Given the description of an element on the screen output the (x, y) to click on. 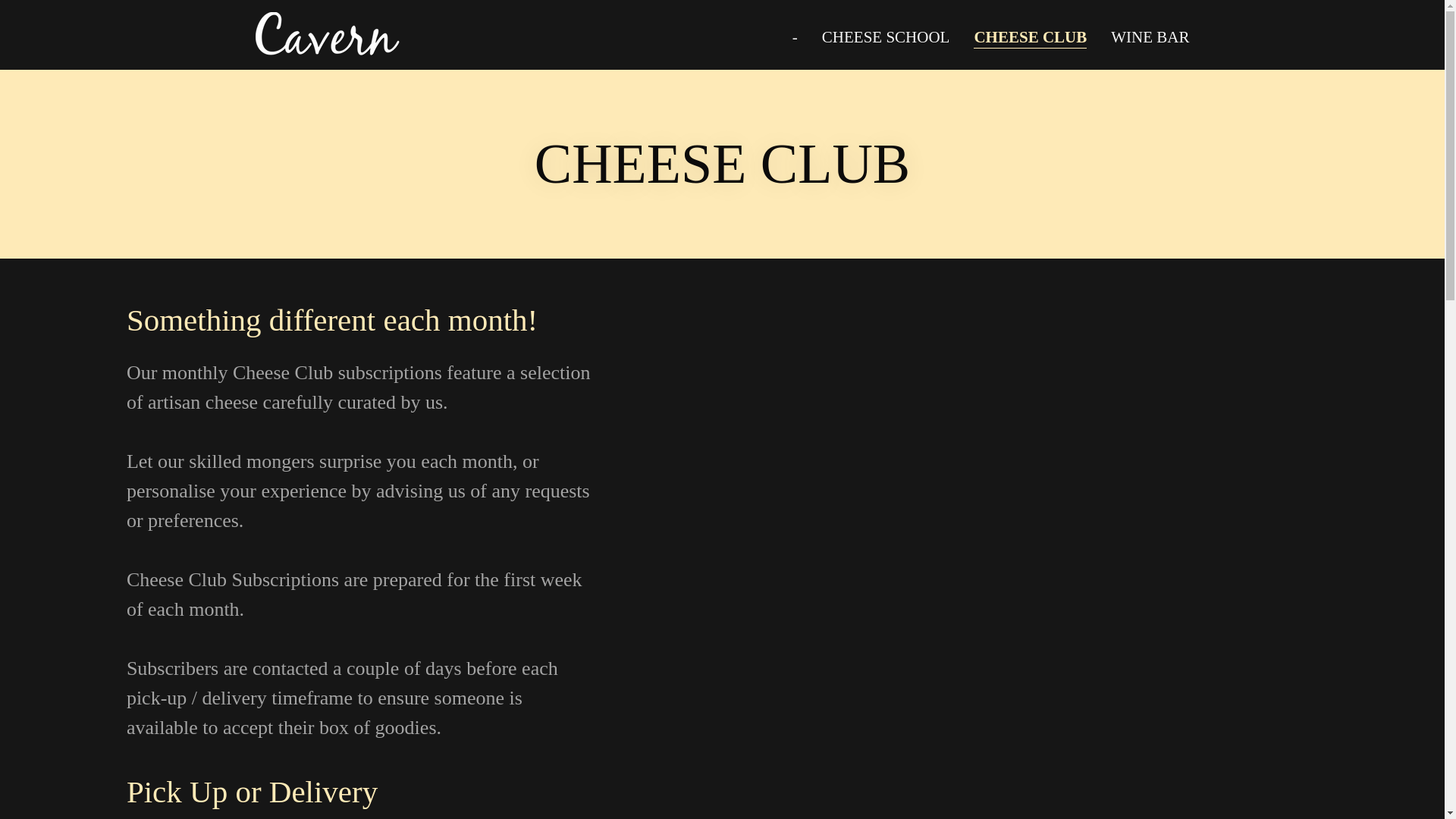
CHEESE CLUB (1030, 37)
WINE BAR (1149, 35)
CHEESE SCHOOL (885, 35)
